Given the description of an element on the screen output the (x, y) to click on. 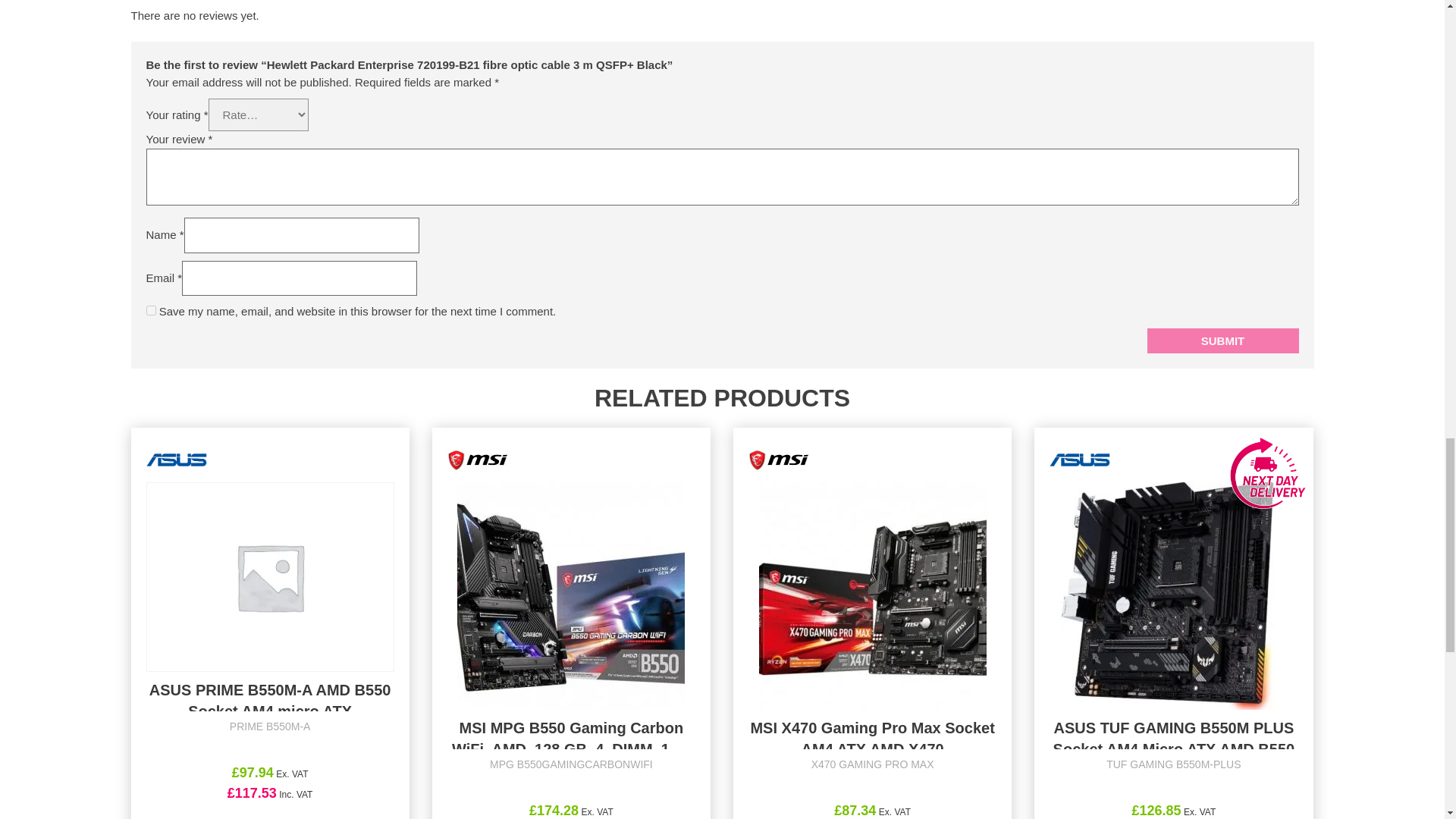
yes (150, 310)
Submit (1222, 340)
